Given the description of an element on the screen output the (x, y) to click on. 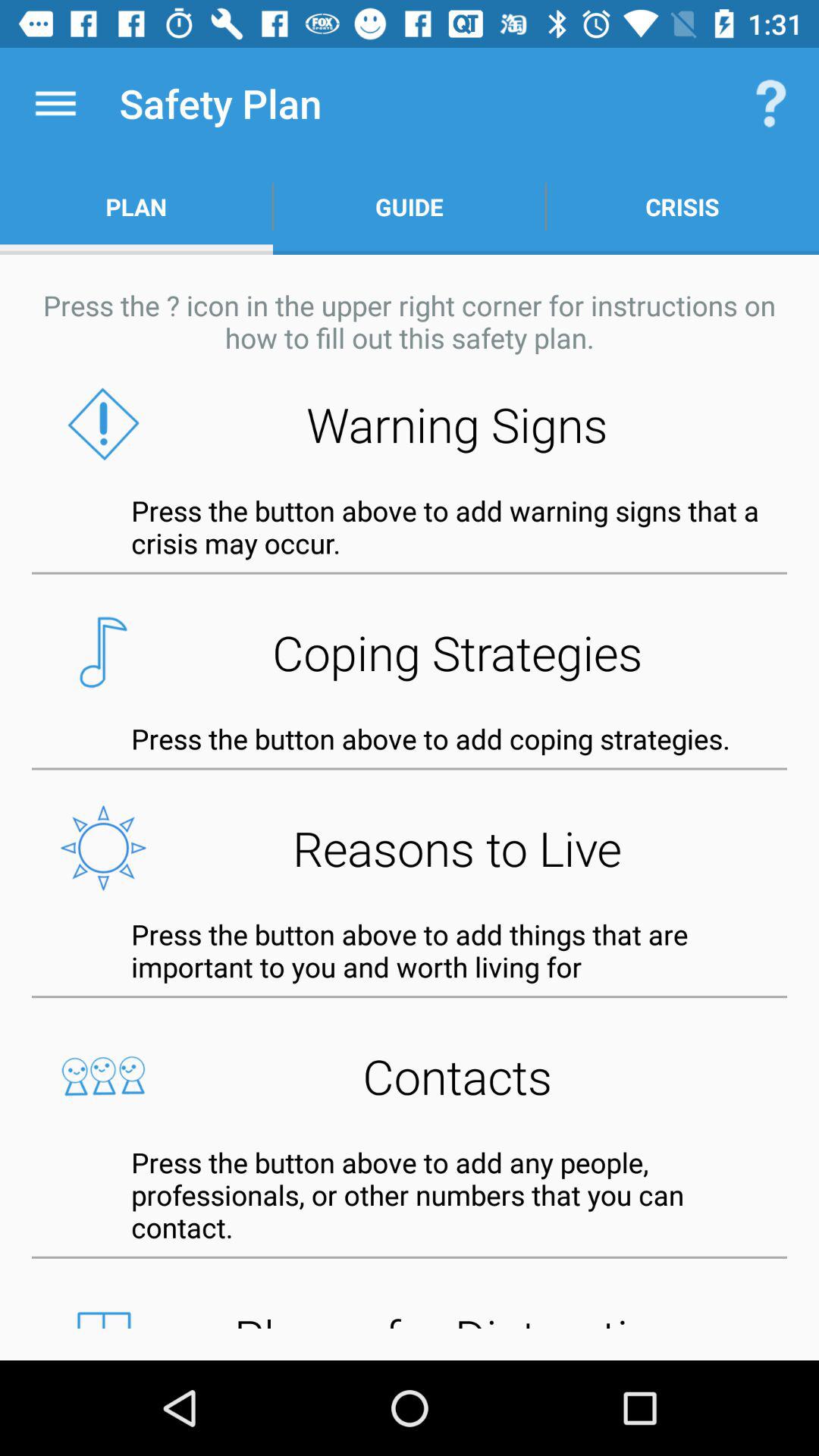
open the item above the press the icon app (409, 206)
